Given the description of an element on the screen output the (x, y) to click on. 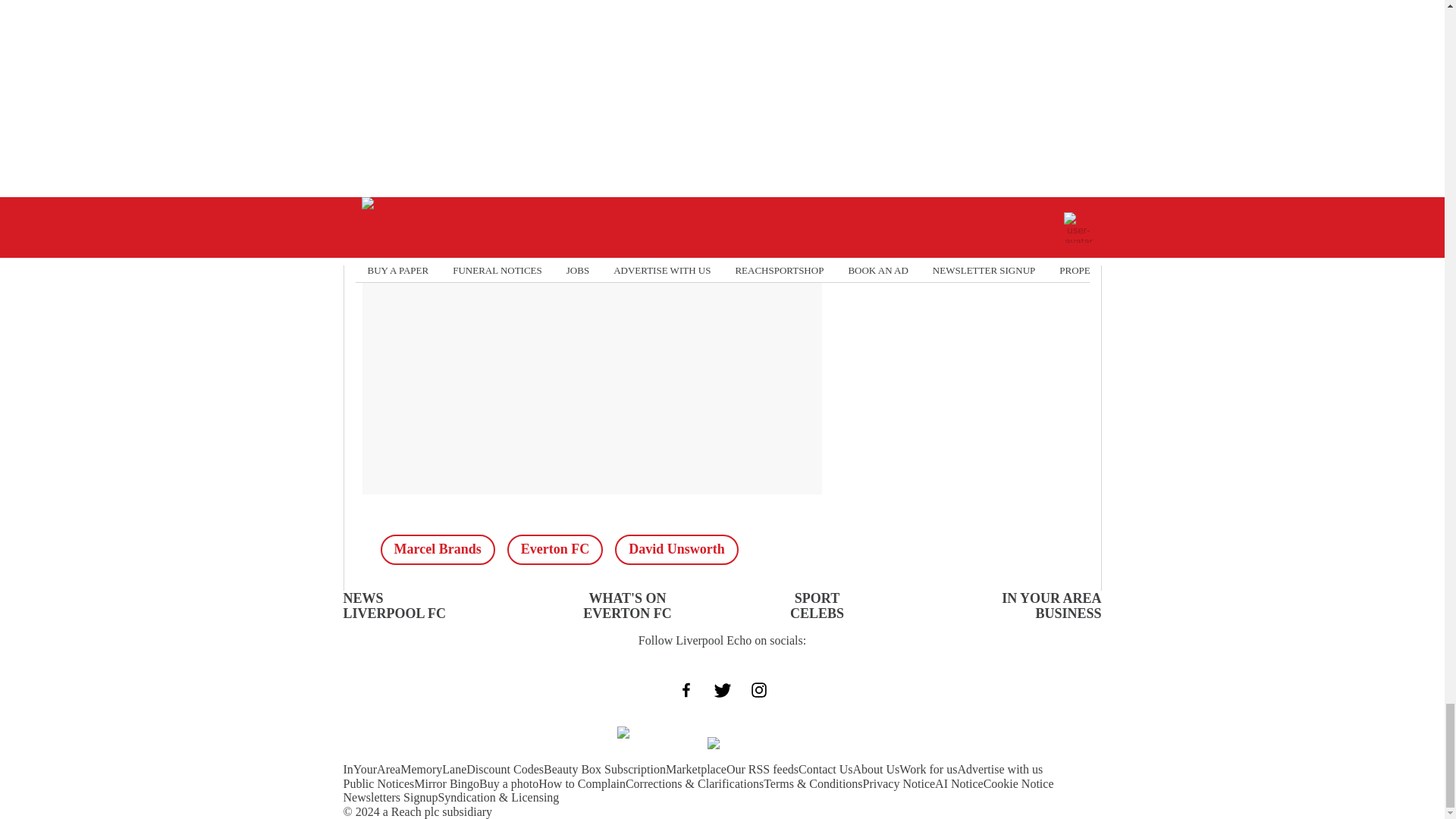
Facebook (421, 81)
WHAT'S ON (626, 598)
Marcel Brands (437, 549)
Everton FC (554, 549)
NEWS (362, 598)
David Unsworth (676, 549)
Instagram (646, 81)
Twitter (533, 81)
